Given the description of an element on the screen output the (x, y) to click on. 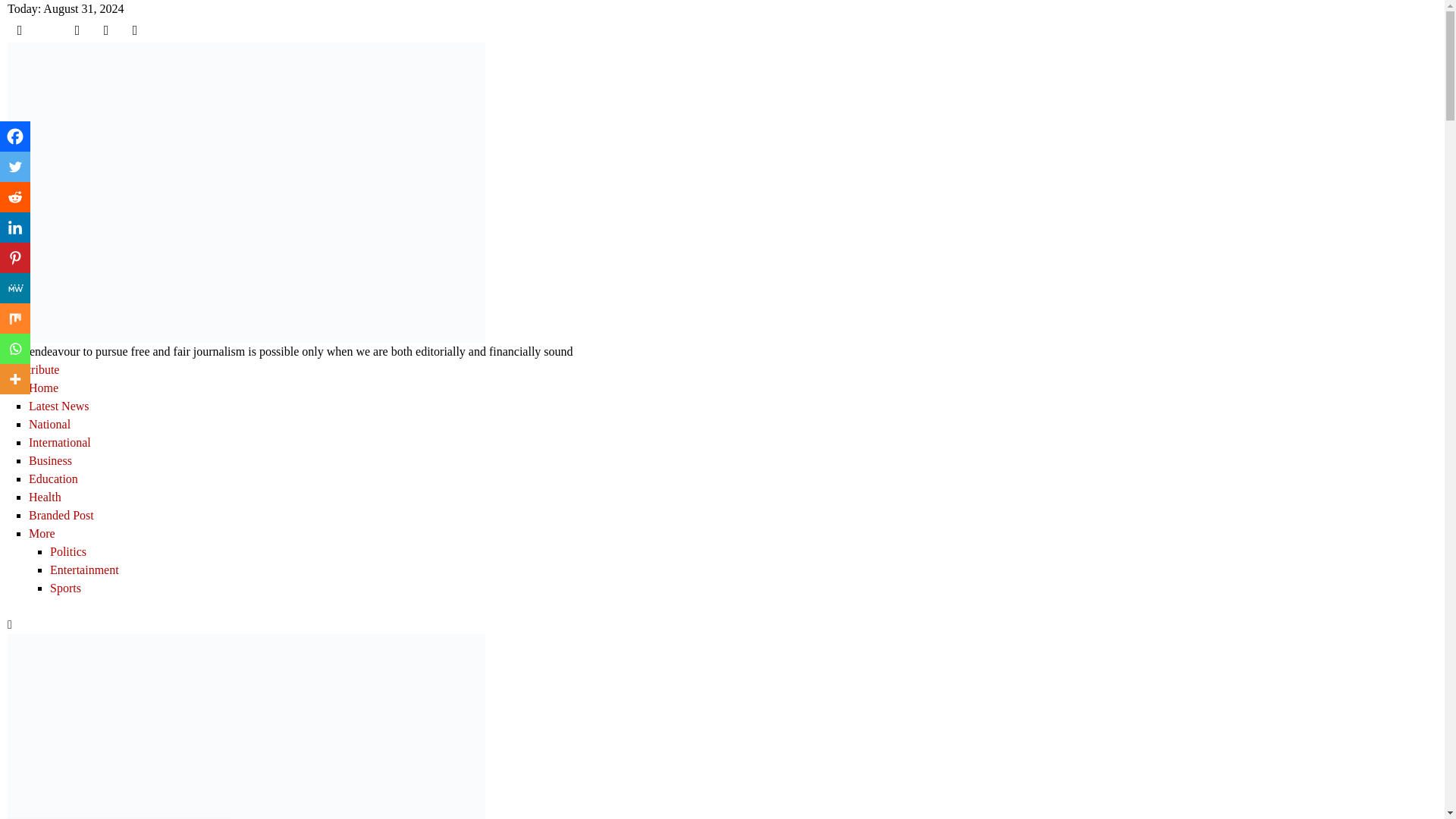
Sports (743, 589)
National (733, 425)
Contribute (33, 369)
International (733, 443)
More (15, 378)
Facebook (15, 136)
Twitter (15, 166)
Branded Post (733, 516)
